Given the description of an element on the screen output the (x, y) to click on. 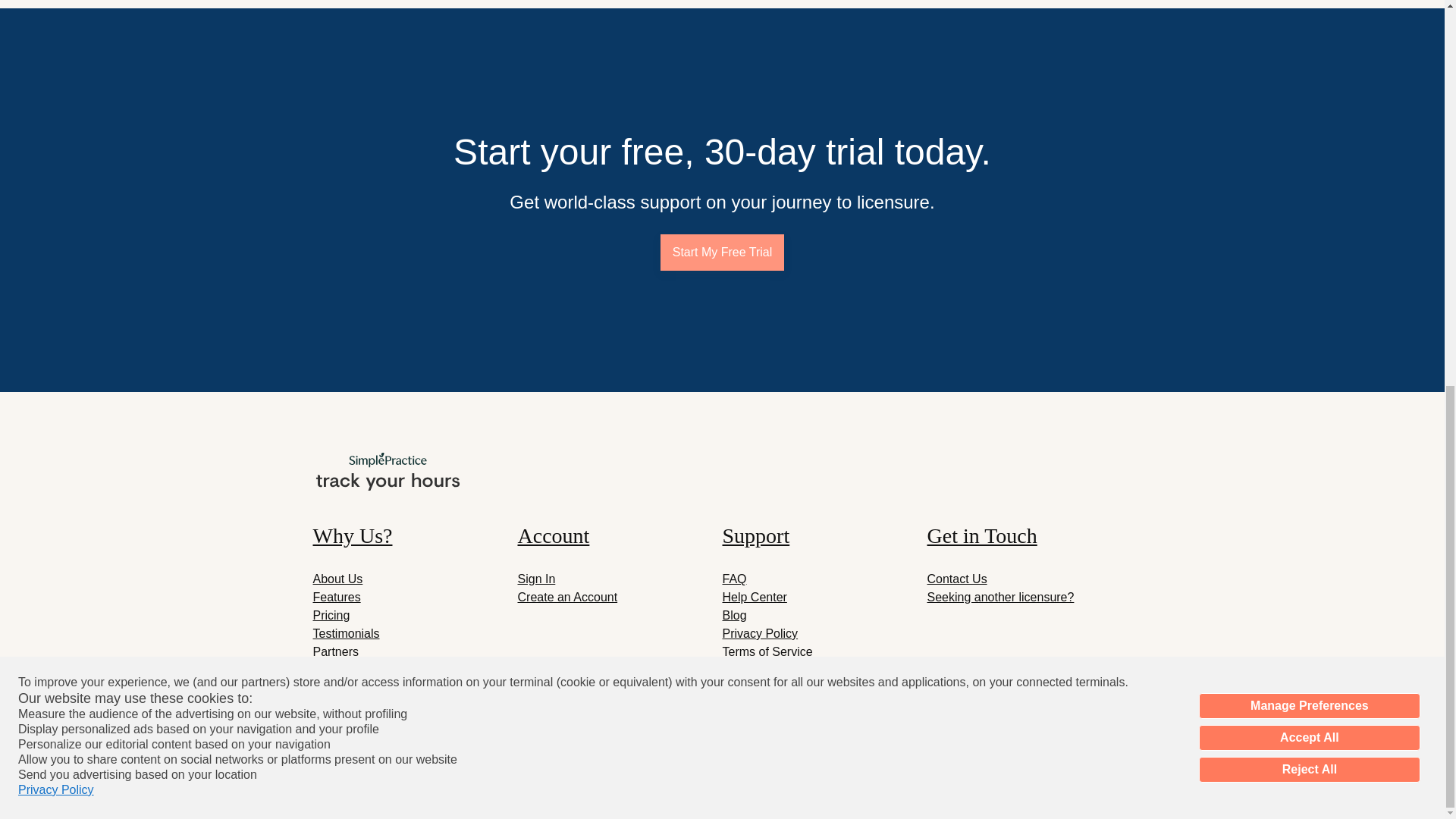
Terms of Service (767, 651)
Pricing (331, 615)
Reject All (1309, 42)
Privacy Policy (759, 633)
Cookie Preferences (775, 669)
FAQ (733, 578)
About Us (337, 578)
Blog (733, 615)
Partners (335, 651)
Get in Touch (1028, 536)
Privacy Policy (55, 62)
Create an Account (566, 596)
Seeking another licensure? (1000, 596)
Features (336, 596)
Support (824, 536)
